Given the description of an element on the screen output the (x, y) to click on. 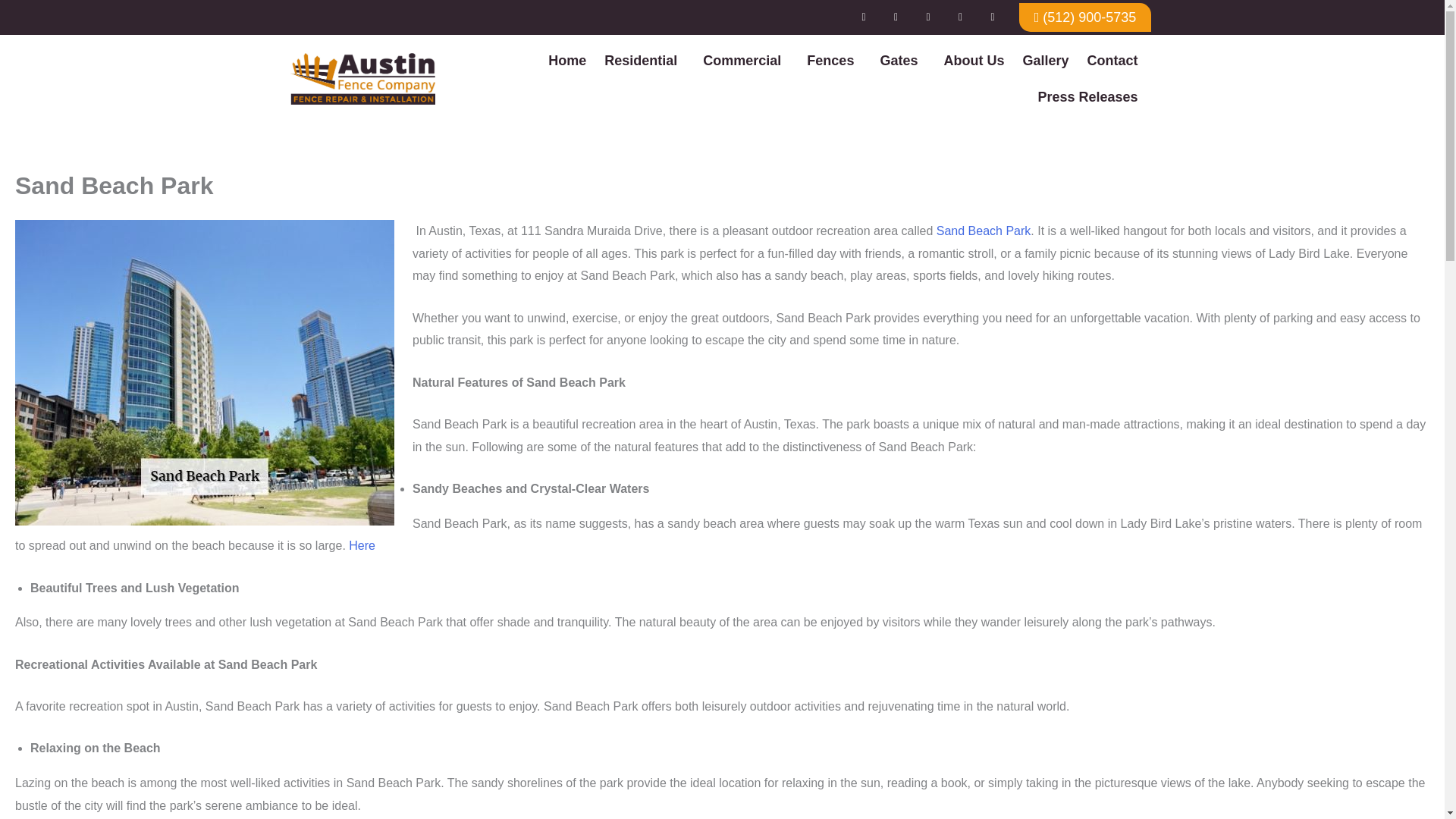
Gates (902, 60)
About Us (973, 60)
Gallery (1045, 60)
Fences (833, 60)
Contact (1112, 60)
Home (566, 60)
Sand Beach Park (983, 230)
Commercial (745, 60)
Residential (644, 60)
Press Releases (1087, 96)
